Given the description of an element on the screen output the (x, y) to click on. 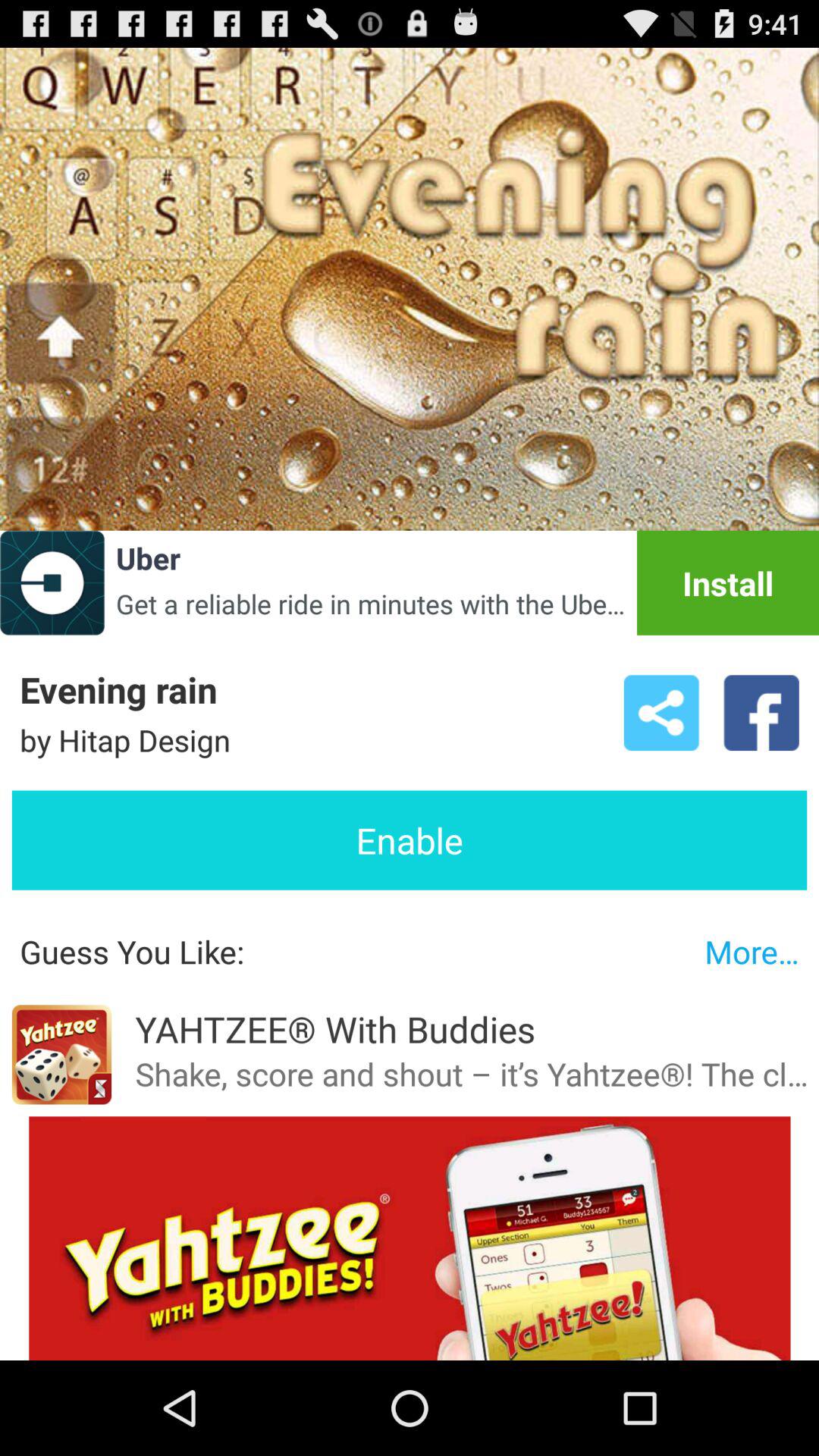
select the icon to the right of the guess you like: item (751, 951)
